Given the description of an element on the screen output the (x, y) to click on. 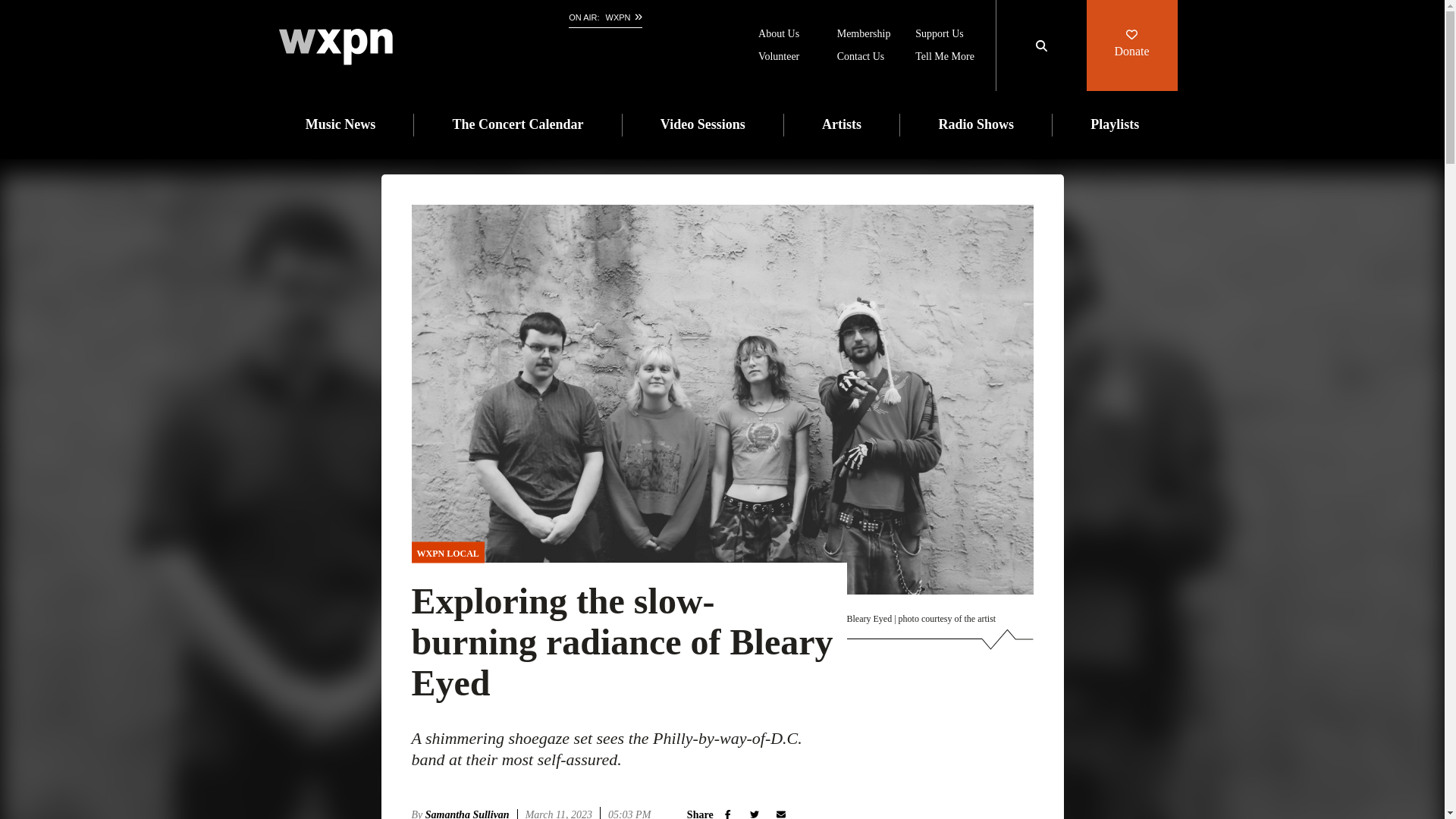
Support Us (938, 35)
Radio Shows (975, 125)
The Concert Calendar (517, 125)
Contact Us (861, 57)
Volunteer (778, 57)
Samantha Sullivan (471, 814)
Tell Me More (944, 57)
Membership (864, 35)
Artists (841, 125)
Donate (1131, 45)
About Us (778, 35)
Video Sessions (703, 125)
Music News (340, 125)
Playlists (1114, 125)
